Given the description of an element on the screen output the (x, y) to click on. 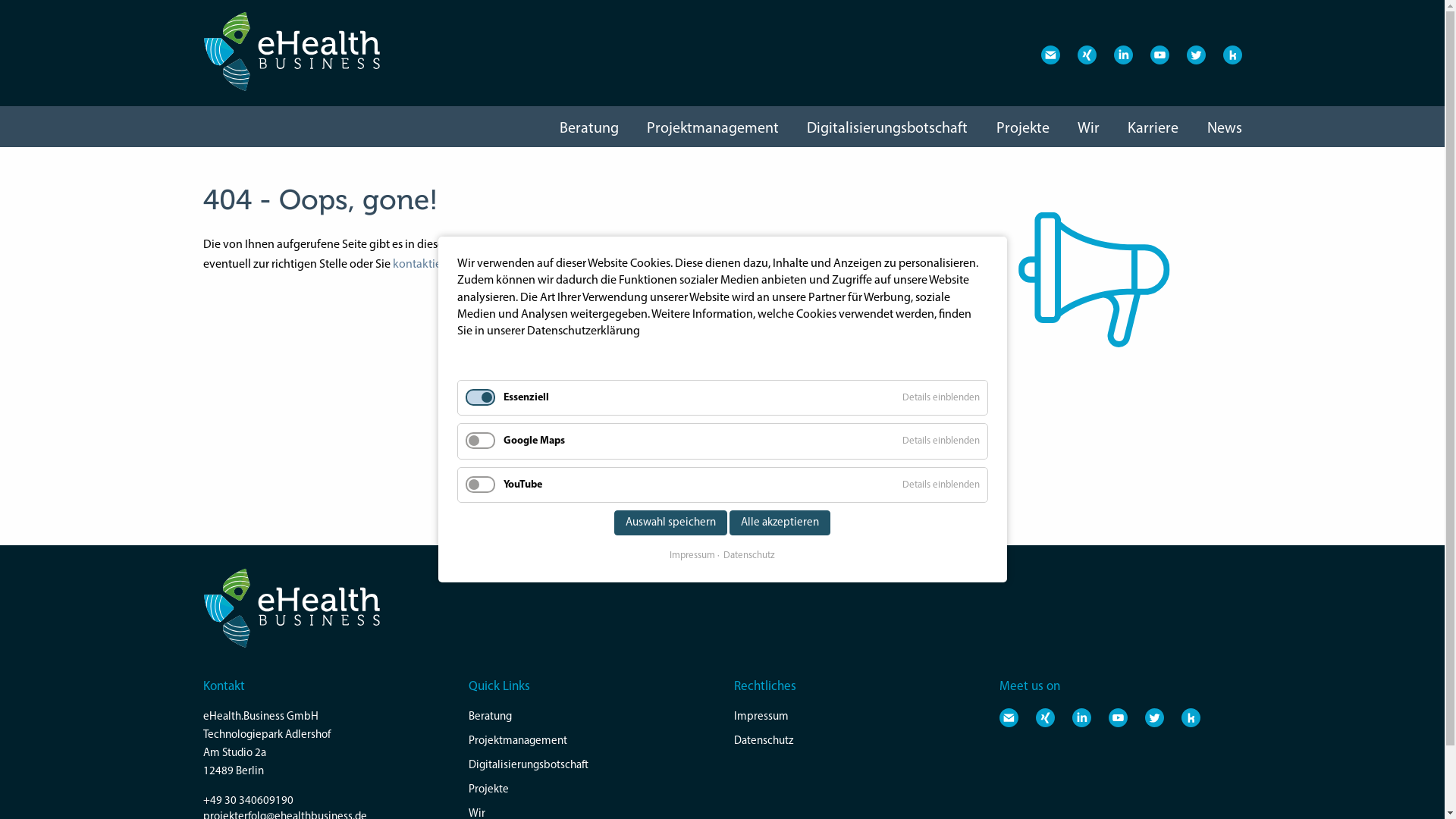
E-Mail an eHealth.Business Element type: hover (1008, 717)
Projekte Element type: text (589, 790)
News Element type: text (1224, 128)
Auswahl speichern Element type: text (670, 522)
Karriere Element type: text (1152, 128)
Projektmanagement Element type: text (589, 741)
Besuchen Sie uns auf Kununu Element type: hover (1190, 717)
Digitalisierungsbotschaft Element type: text (589, 765)
Impressum Element type: text (692, 555)
kontaktieren uns einfach. Element type: text (456, 265)
Wir Element type: text (1088, 128)
Besuchen Sie uns auf XING Element type: hover (1085, 54)
Besuchen Sie uns auf Youtube Element type: hover (1158, 54)
Beratung Element type: text (588, 128)
Besuchen Sie uns auf Twitter Element type: hover (1154, 717)
Besuchen Sie uns auf LinkedIn Element type: hover (1122, 54)
Details einblenden Element type: text (940, 484)
Besuchen Sie uns auf Twitter Element type: hover (1195, 54)
Projekte Element type: text (1022, 128)
Besuchen Sie uns auf Youtube Element type: hover (1117, 717)
on Element type: text (4, 4)
eHealth Business - Projekterfolg im Gesundheitswesen Element type: hover (292, 52)
Besuchen Sie uns auf Kununu Element type: hover (1231, 54)
E-Mail an eHealth.Business Element type: hover (1049, 54)
Alle akzeptieren Element type: text (779, 522)
Datenschutz Element type: text (746, 555)
Besuchen Sie uns auf LinkedIn Element type: hover (1081, 717)
+49 30 340609190 Element type: text (248, 801)
Details einblenden Element type: text (940, 397)
Datenschutz Element type: text (855, 741)
Projektmanagement Element type: text (712, 128)
Details einblenden Element type: text (940, 440)
Besuchen Sie uns auf XING Element type: hover (1044, 717)
Digitalisierungsbotschaft Element type: text (886, 128)
Impressum Element type: text (855, 717)
Beratung Element type: text (589, 717)
eHealth Business - Projekterfolg im Gesundheitswesen Element type: hover (292, 608)
